Given the description of an element on the screen output the (x, y) to click on. 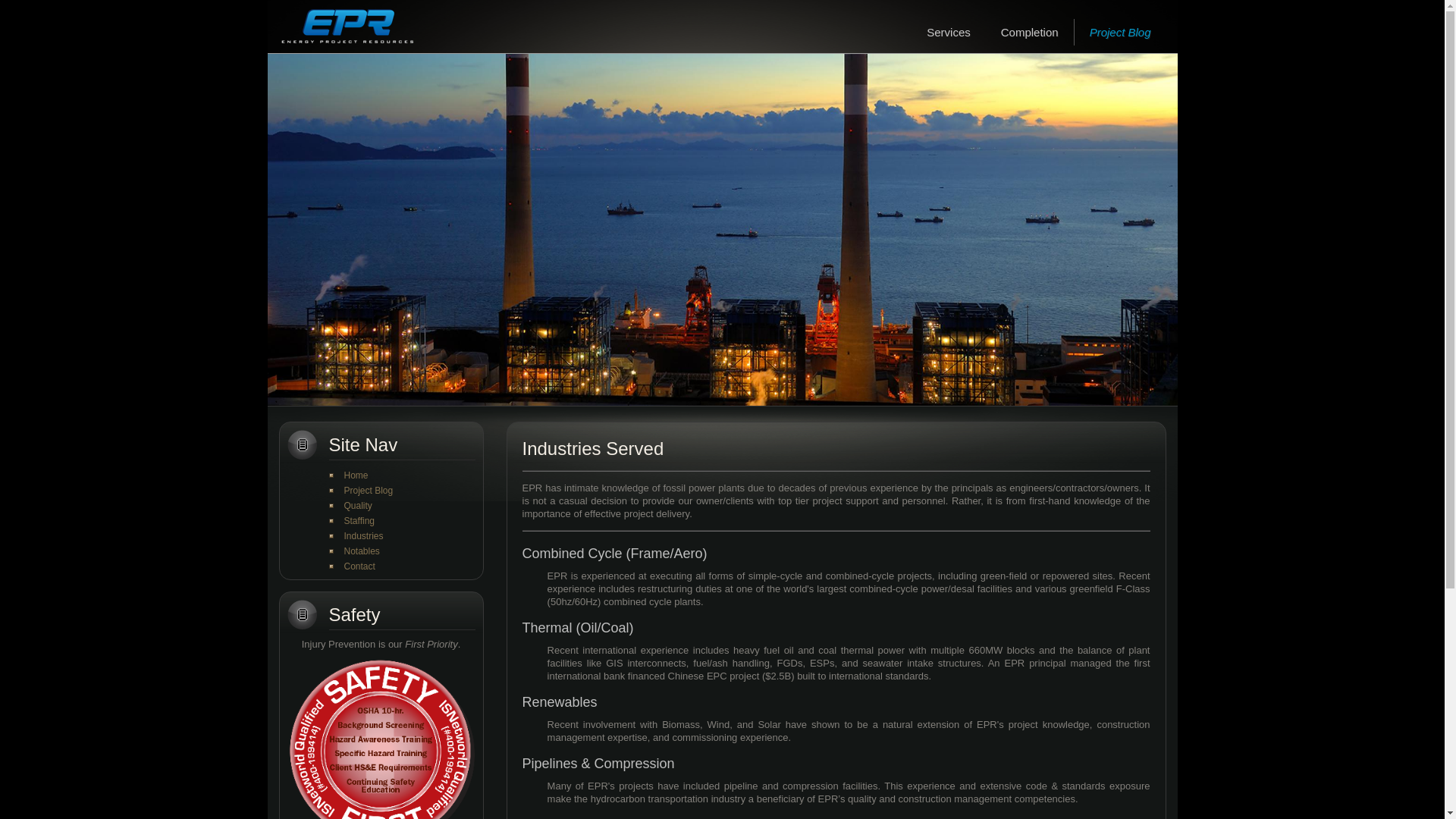
Pause (282, 394)
Quality (357, 505)
Contact (359, 566)
Services (948, 31)
Project Blog (368, 490)
Industries (363, 535)
Home (355, 475)
Completion (1029, 31)
Project Blog (1120, 31)
Notables (361, 551)
